Given the description of an element on the screen output the (x, y) to click on. 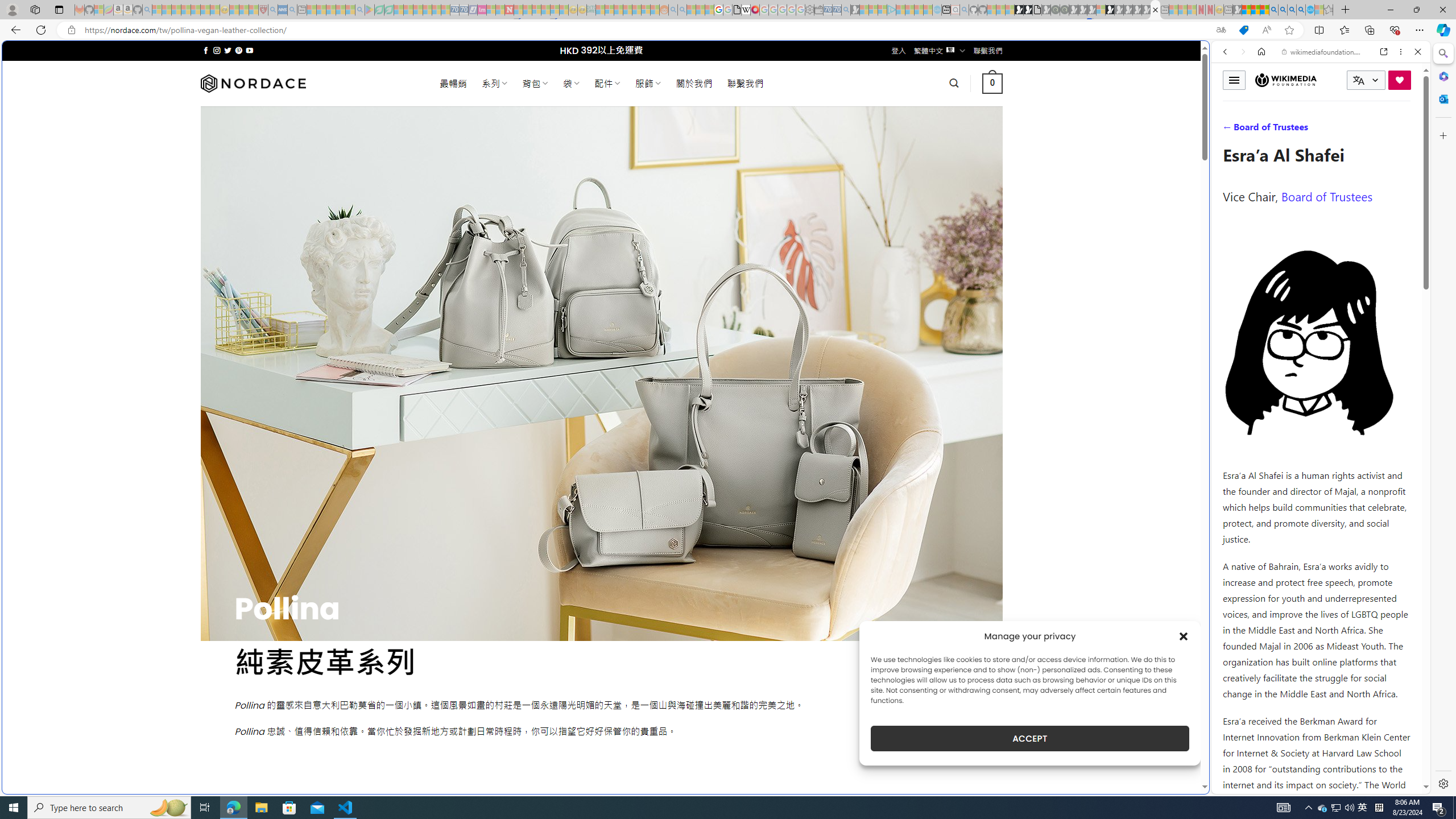
Future Focus Report 2024 - Sleeping (1064, 9)
